Given the description of an element on the screen output the (x, y) to click on. 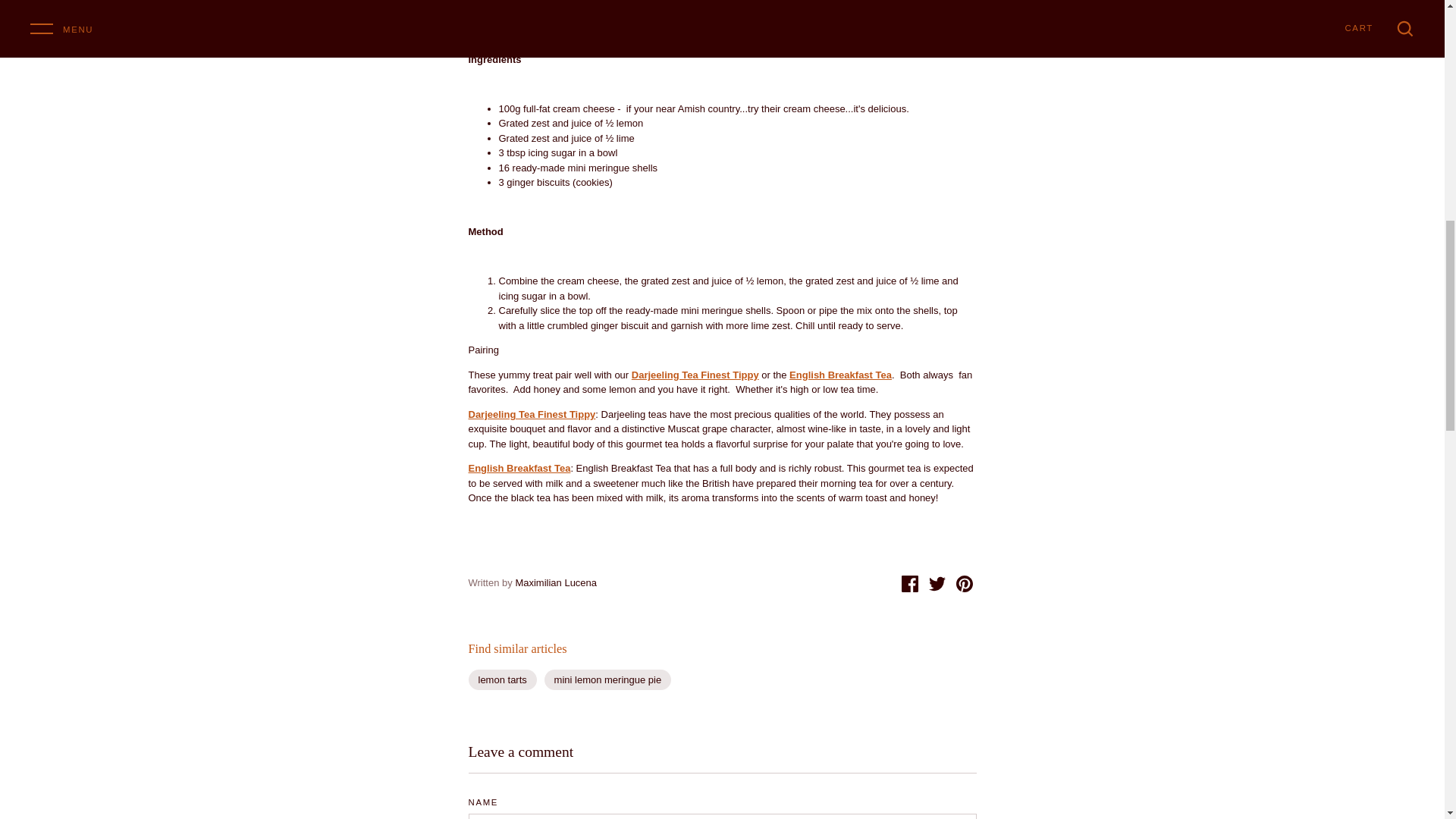
Pinterest (963, 583)
Twitter (936, 583)
Facebook (909, 583)
English Breakfast Tea (519, 468)
Darjeeling Tea Finest Tippy (531, 414)
Darjeeling Tea Finest Tippy (694, 374)
English Breakfast Tea (840, 374)
